Given the description of an element on the screen output the (x, y) to click on. 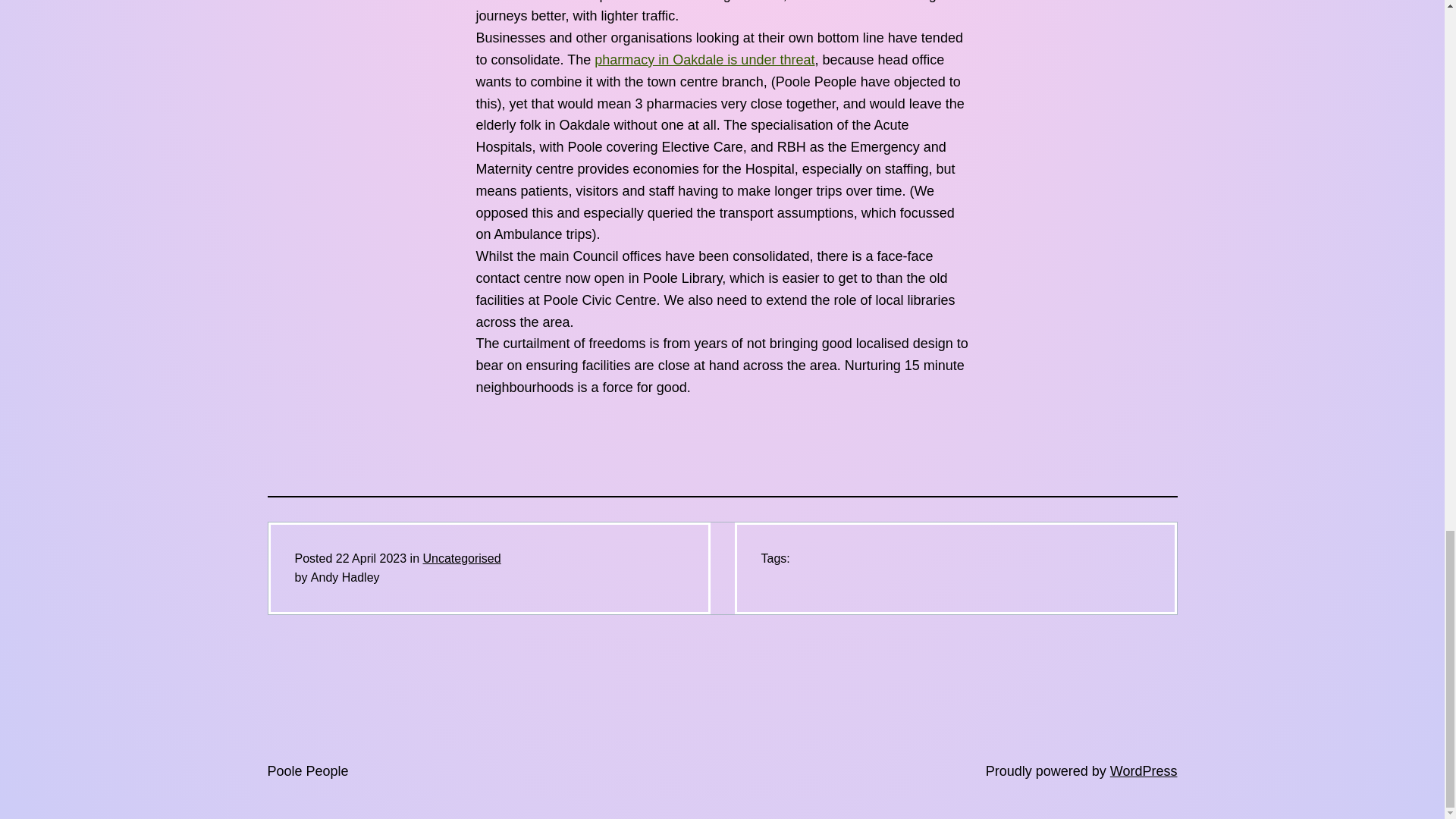
Poole People (306, 770)
pharmacy in Oakdale is under threat (703, 59)
Uncategorised (461, 558)
WordPress (1143, 770)
